Given the description of an element on the screen output the (x, y) to click on. 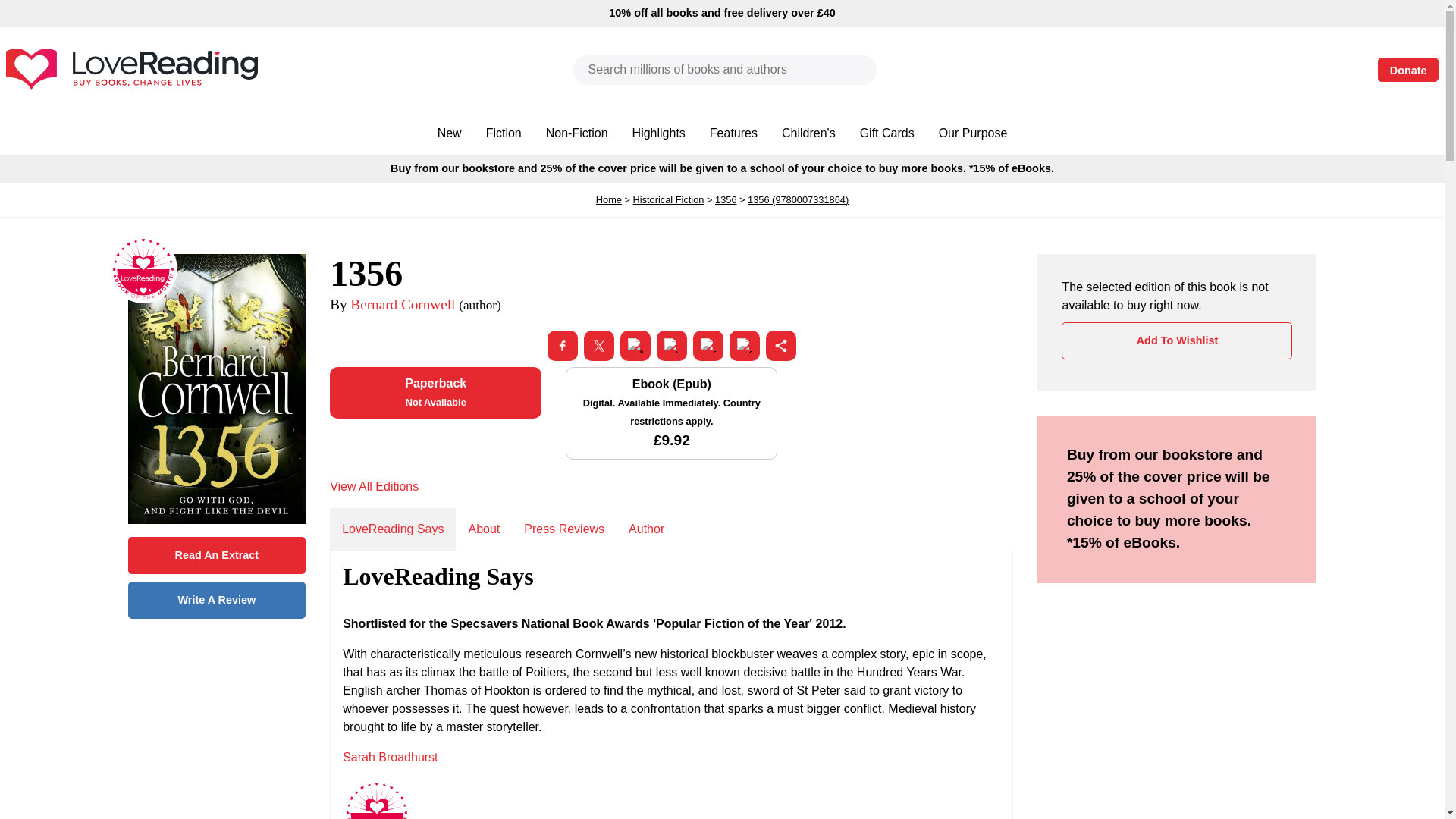
Fiction (504, 133)
Non-Fiction (577, 133)
Heart (1278, 69)
Basket (1324, 69)
Person Circle (1232, 69)
New (449, 133)
Search Now (860, 69)
Donate (1407, 69)
